Given the description of an element on the screen output the (x, y) to click on. 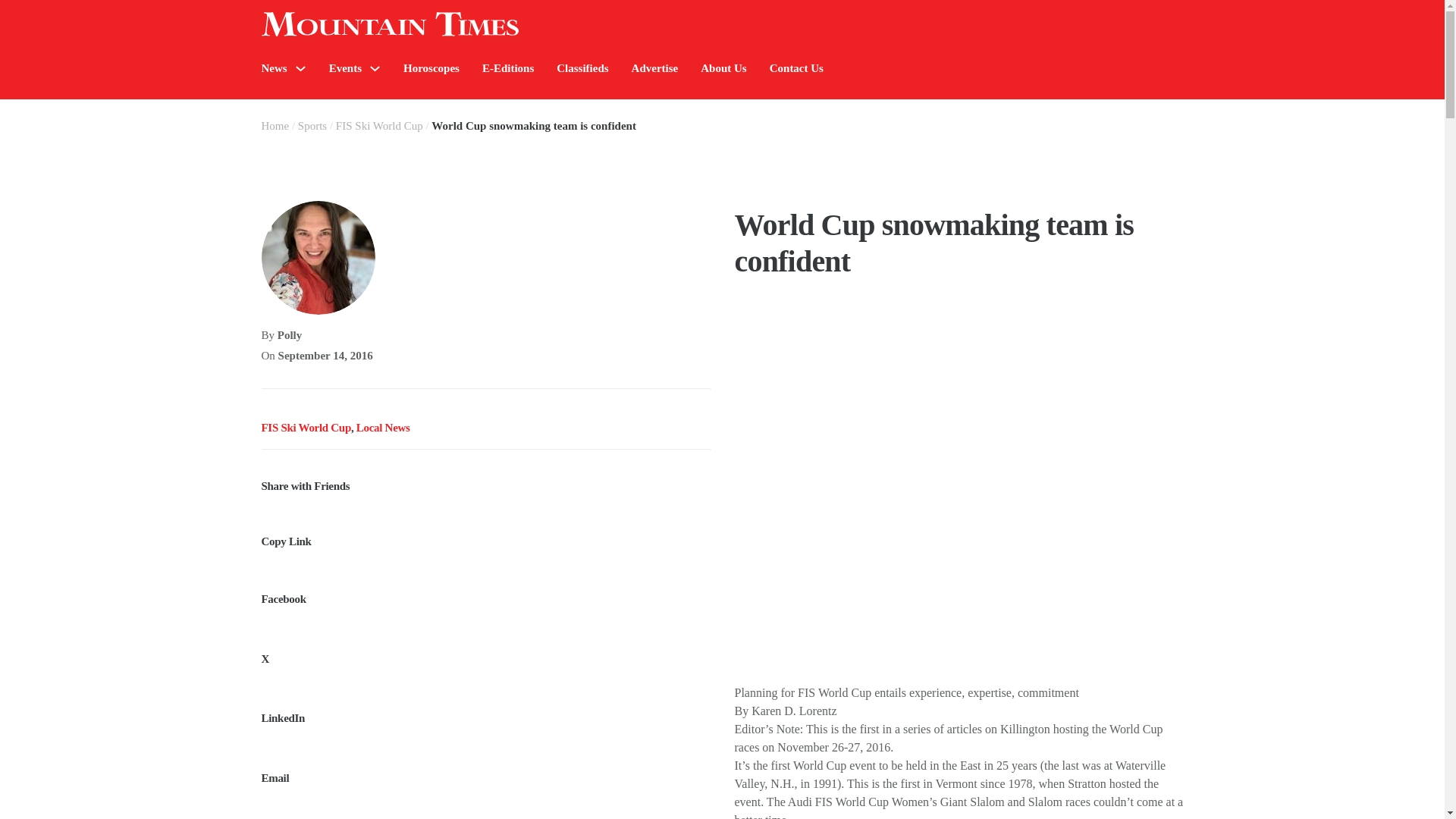
Advertise (654, 67)
FIS Ski World Cup (305, 427)
Local News (383, 427)
Polly (290, 335)
E-Editions (507, 67)
Contact Us (797, 67)
Home (274, 125)
Share with Friends (485, 476)
About Us (722, 67)
Sports (312, 125)
